Given the description of an element on the screen output the (x, y) to click on. 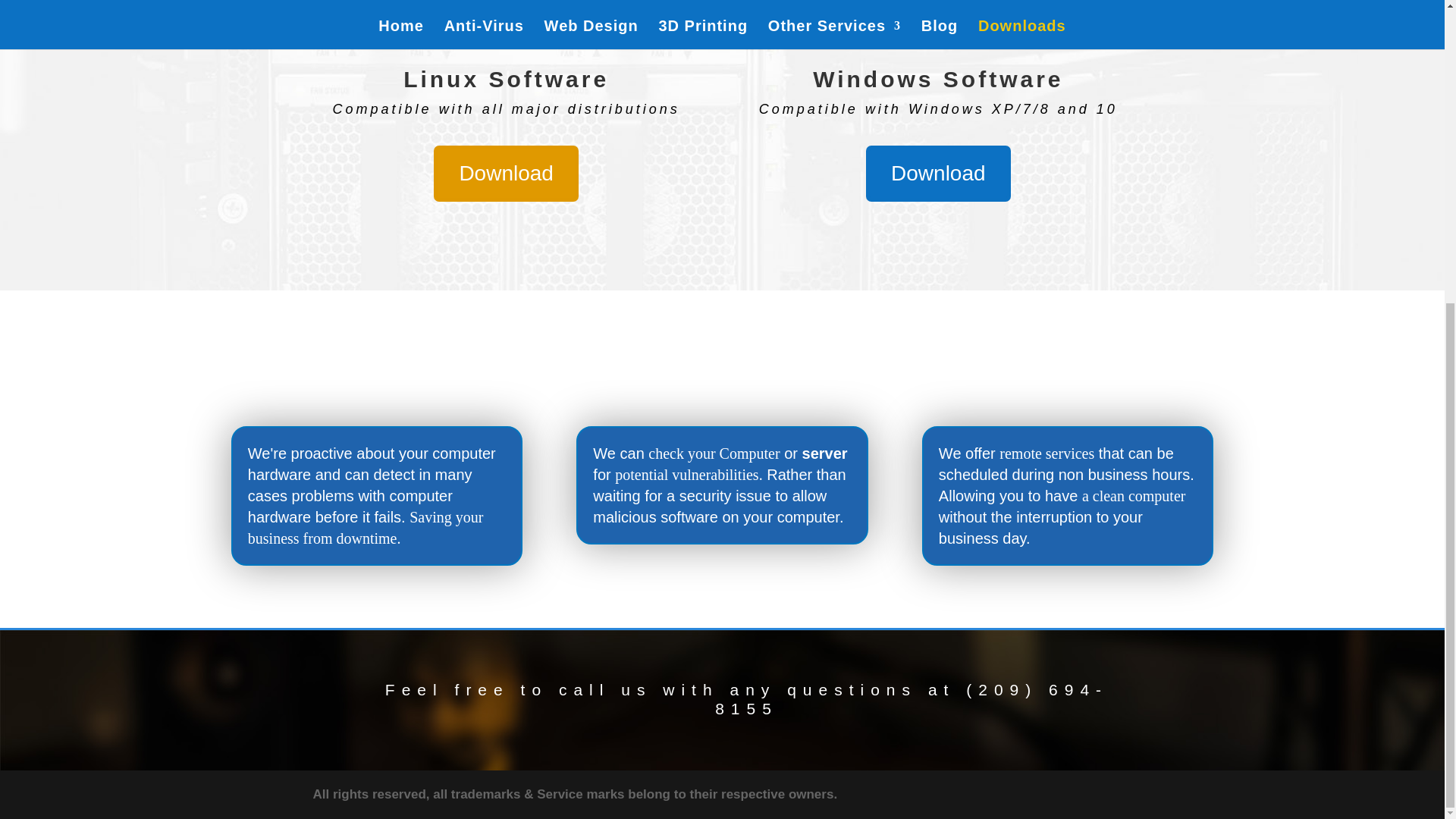
Download (938, 173)
Download (505, 173)
